Given the description of an element on the screen output the (x, y) to click on. 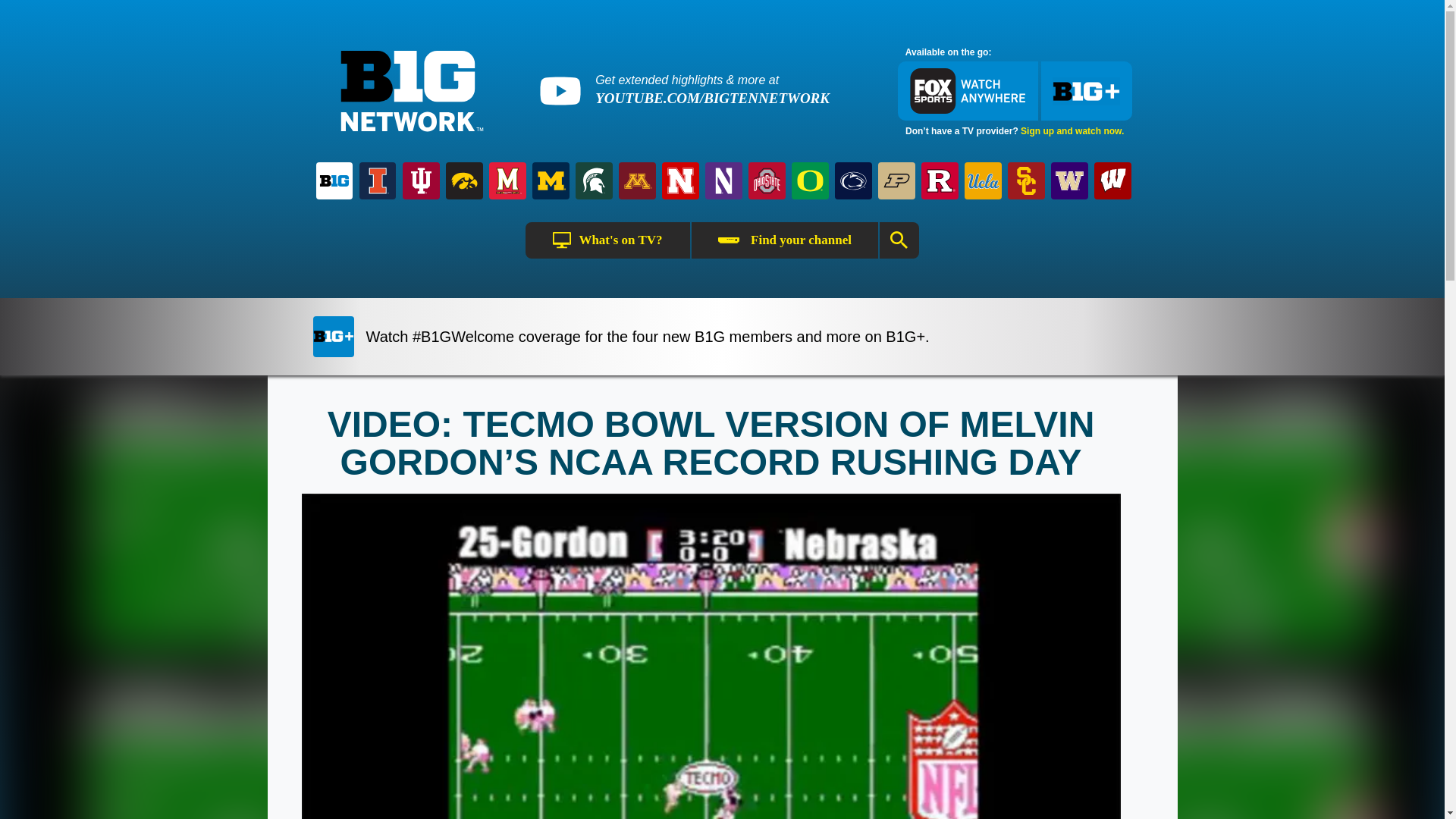
Iowa Hawkeyes (464, 180)
Big Ten Conference (334, 180)
Oregon Ducks (810, 180)
Minnesota Golden Gophers (637, 180)
Illinois Fighting Illini (377, 180)
Maryland Terrapins (507, 180)
Ohio State Buckeyes (767, 180)
Michigan State Spartans (593, 180)
Northwestern Wildcats (723, 180)
Nebraska Huskers (680, 180)
Michigan Wolverines (550, 180)
Penn State Nittany Lions (853, 180)
Indiana Hoosiers (420, 180)
